Given the description of an element on the screen output the (x, y) to click on. 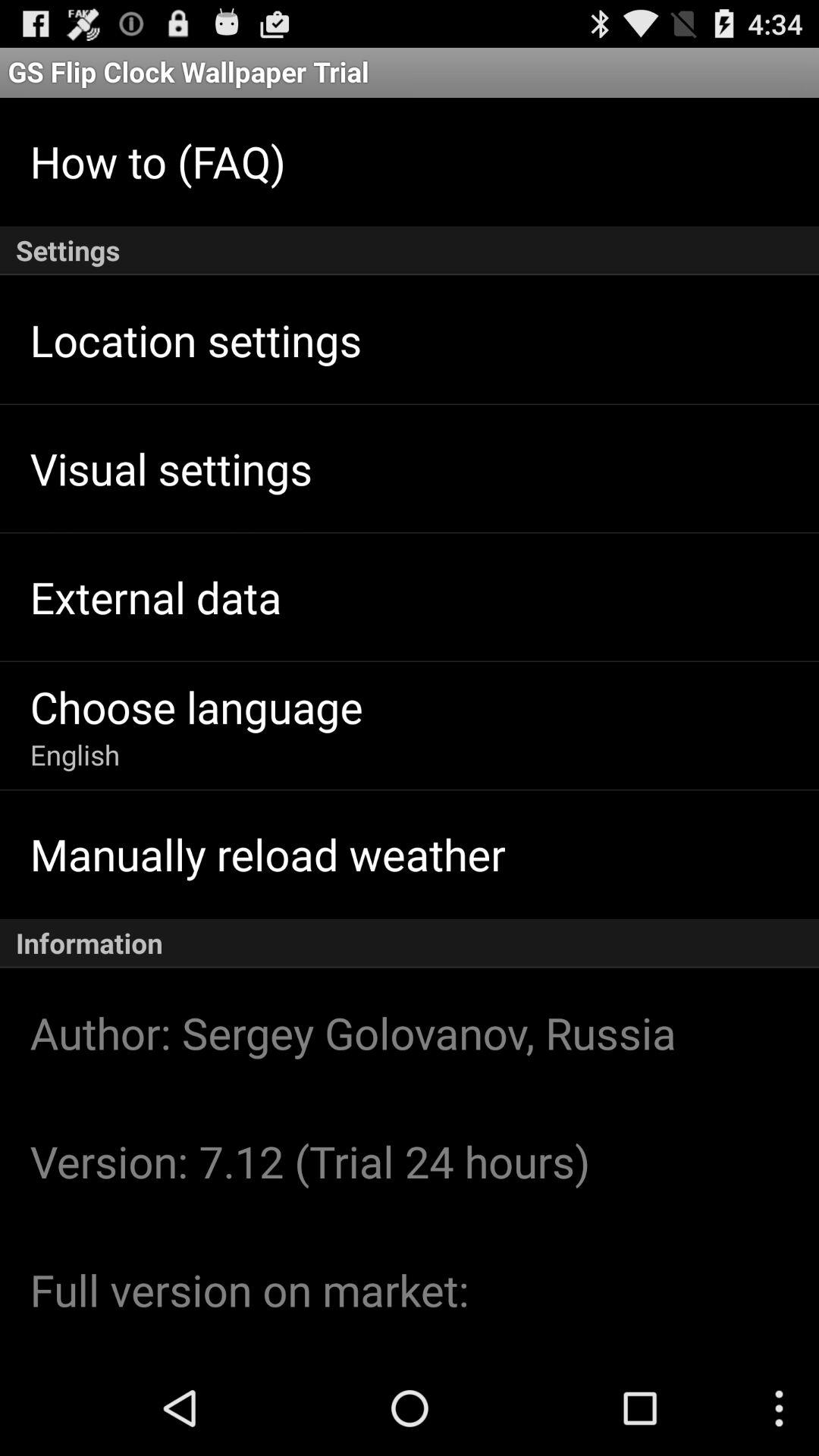
click item below the version 7 12 icon (249, 1289)
